Given the description of an element on the screen output the (x, y) to click on. 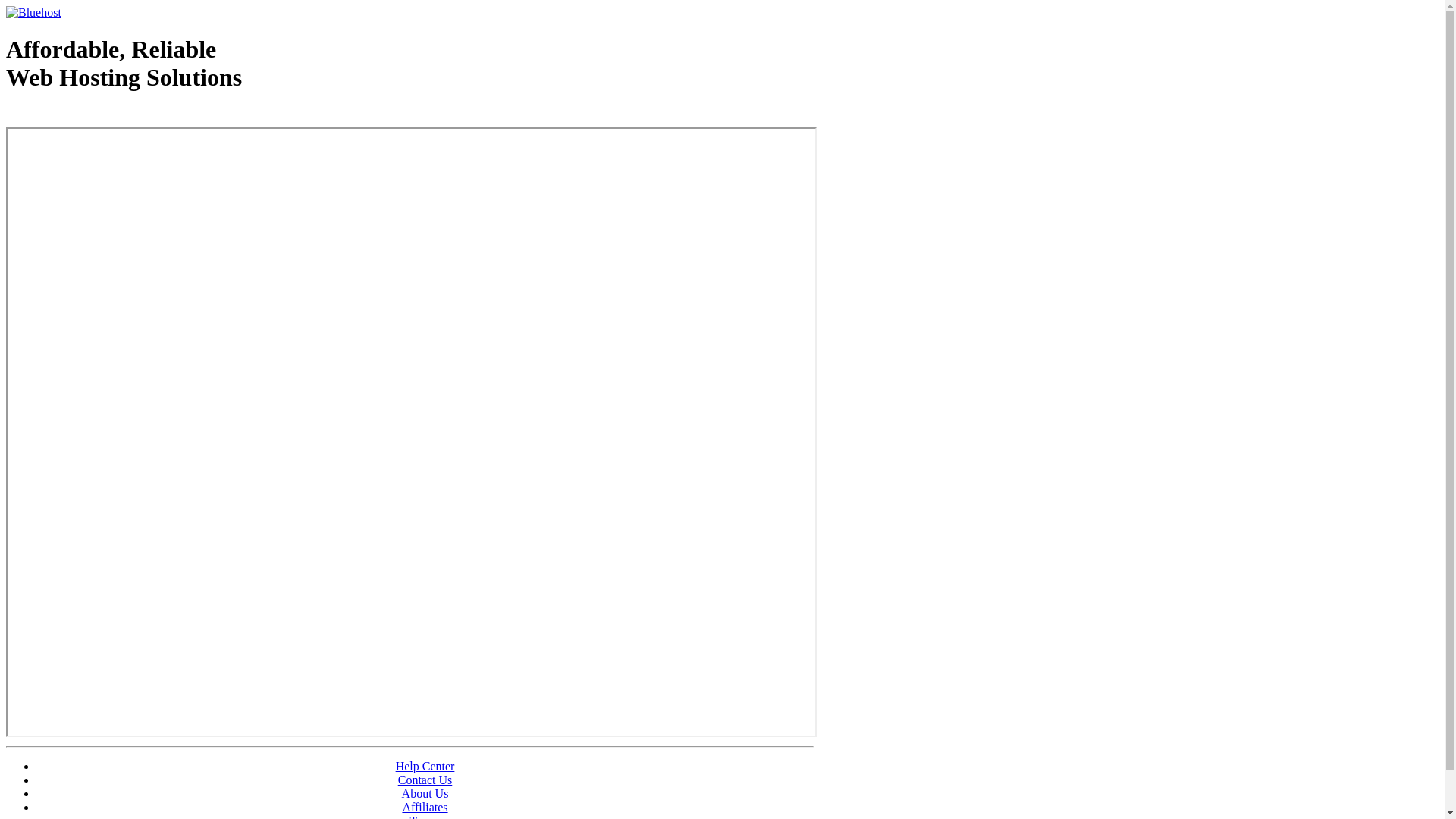
About Us Element type: text (424, 793)
Help Center Element type: text (425, 765)
Contact Us Element type: text (425, 779)
Affiliates Element type: text (424, 806)
Web Hosting - courtesy of www.bluehost.com Element type: text (94, 115)
